Given the description of an element on the screen output the (x, y) to click on. 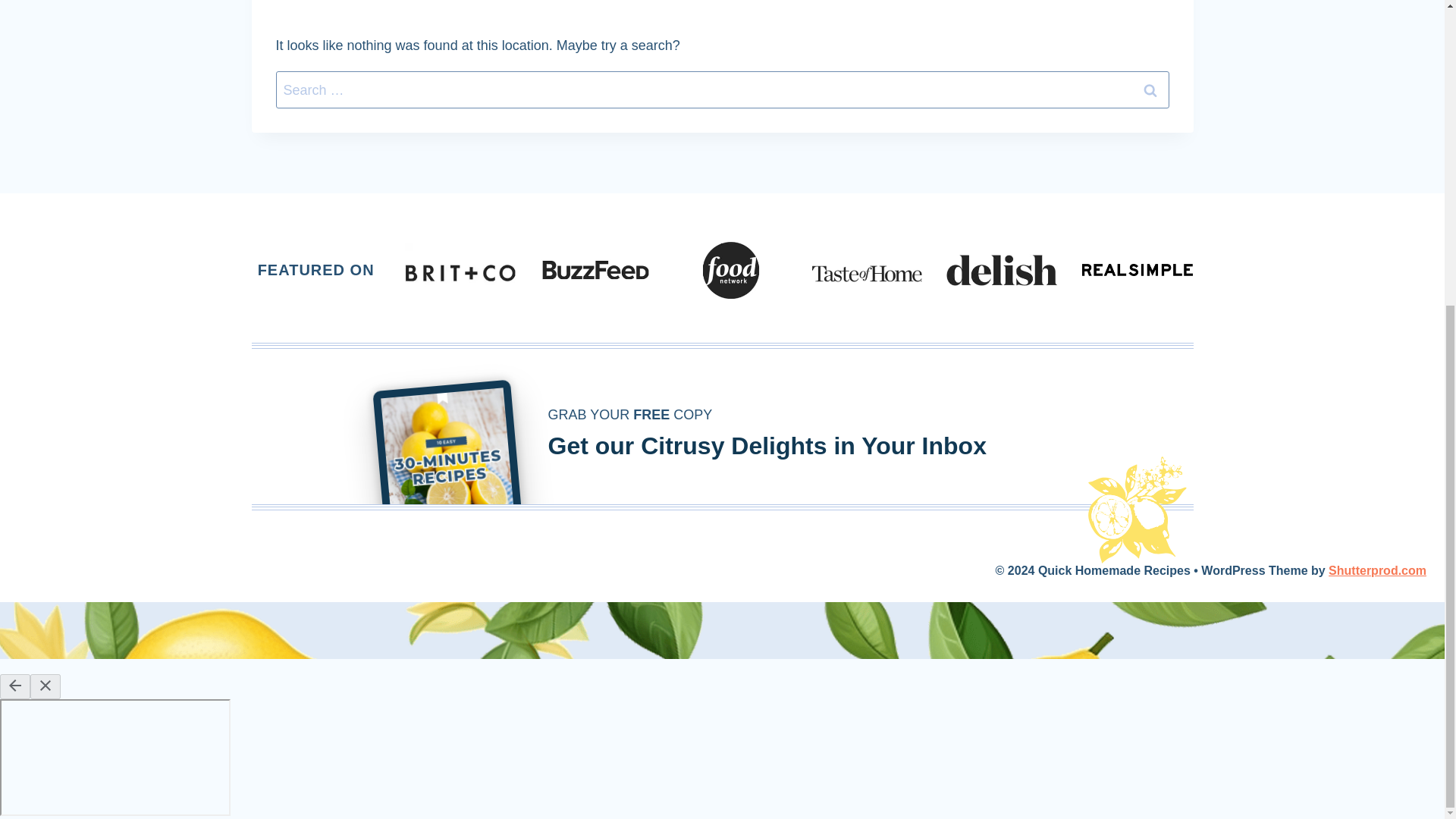
Search (1150, 89)
Shutterprod.com (1376, 570)
Search (1150, 89)
Search (1150, 89)
